Given the description of an element on the screen output the (x, y) to click on. 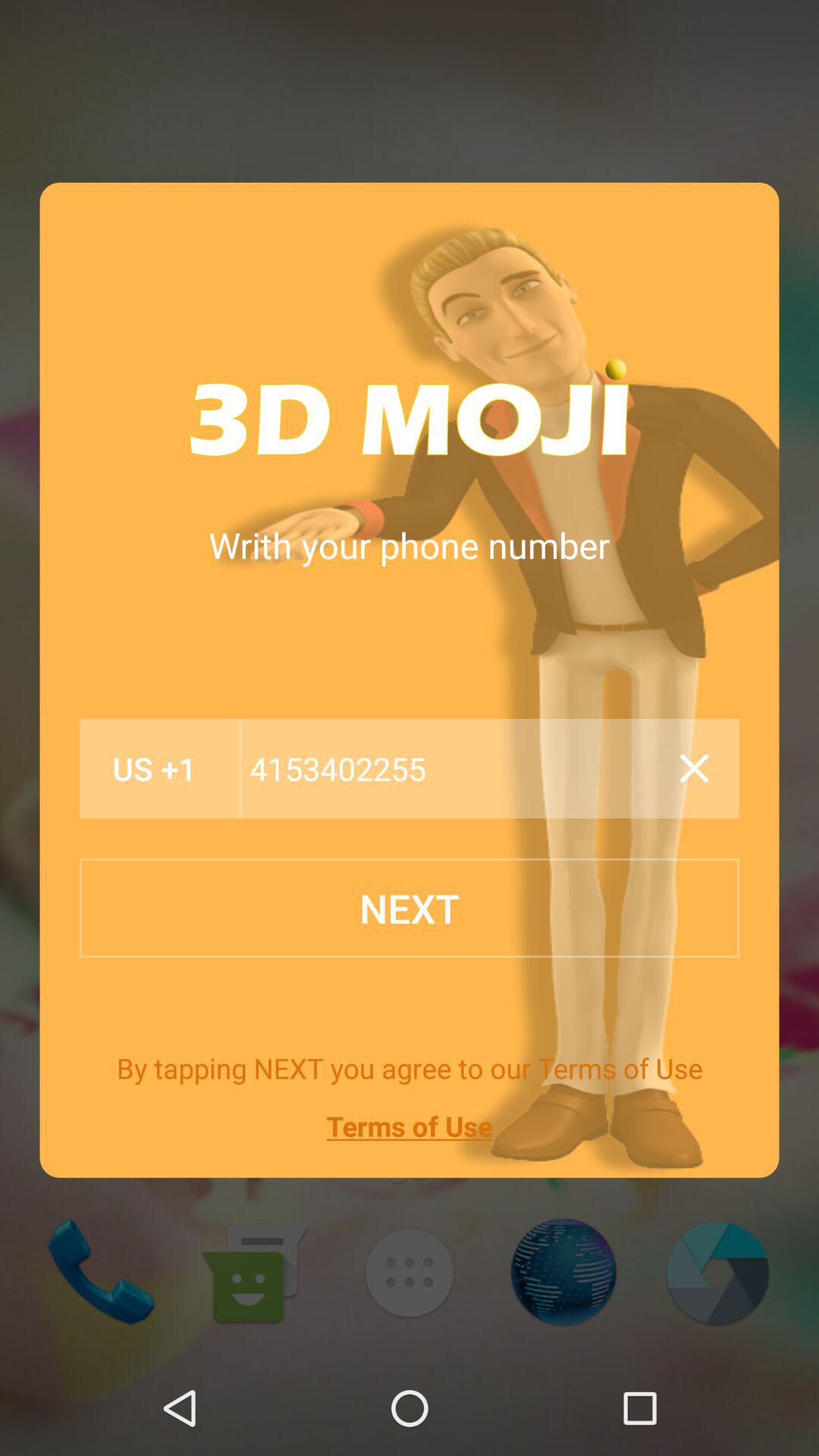
choose the item below the writh your phone icon (154, 768)
